Given the description of an element on the screen output the (x, y) to click on. 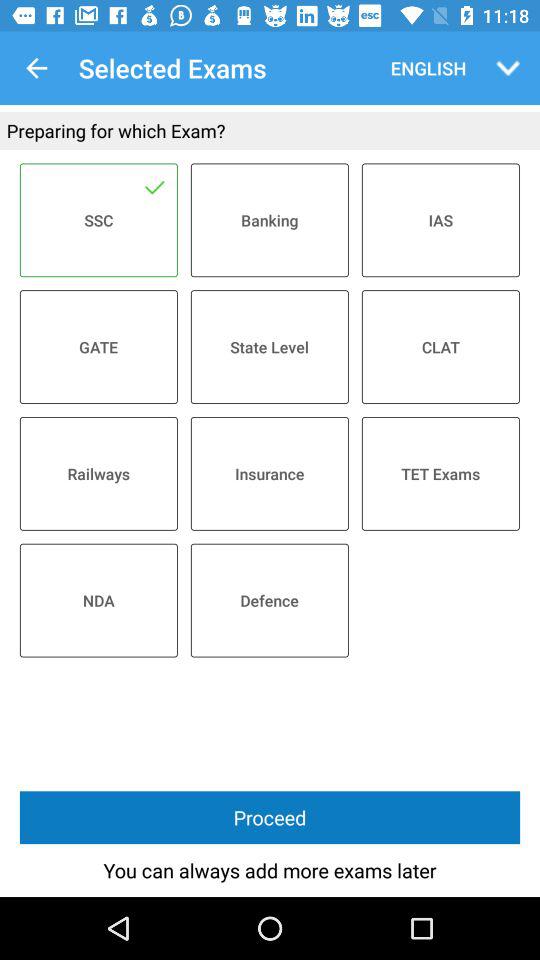
turn on the item next to the english (508, 67)
